Given the description of an element on the screen output the (x, y) to click on. 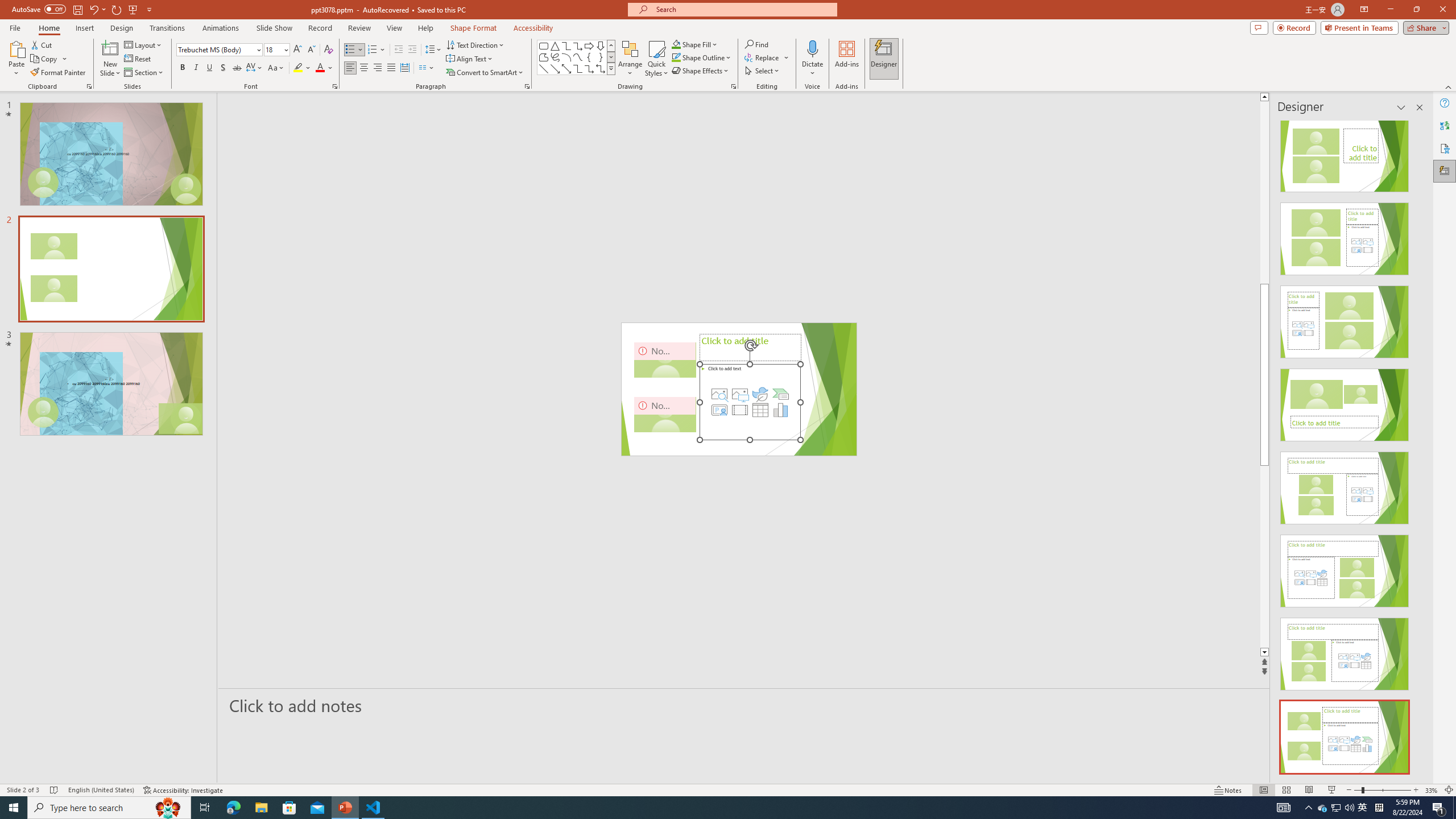
Insert Chart (780, 409)
